Given the description of an element on the screen output the (x, y) to click on. 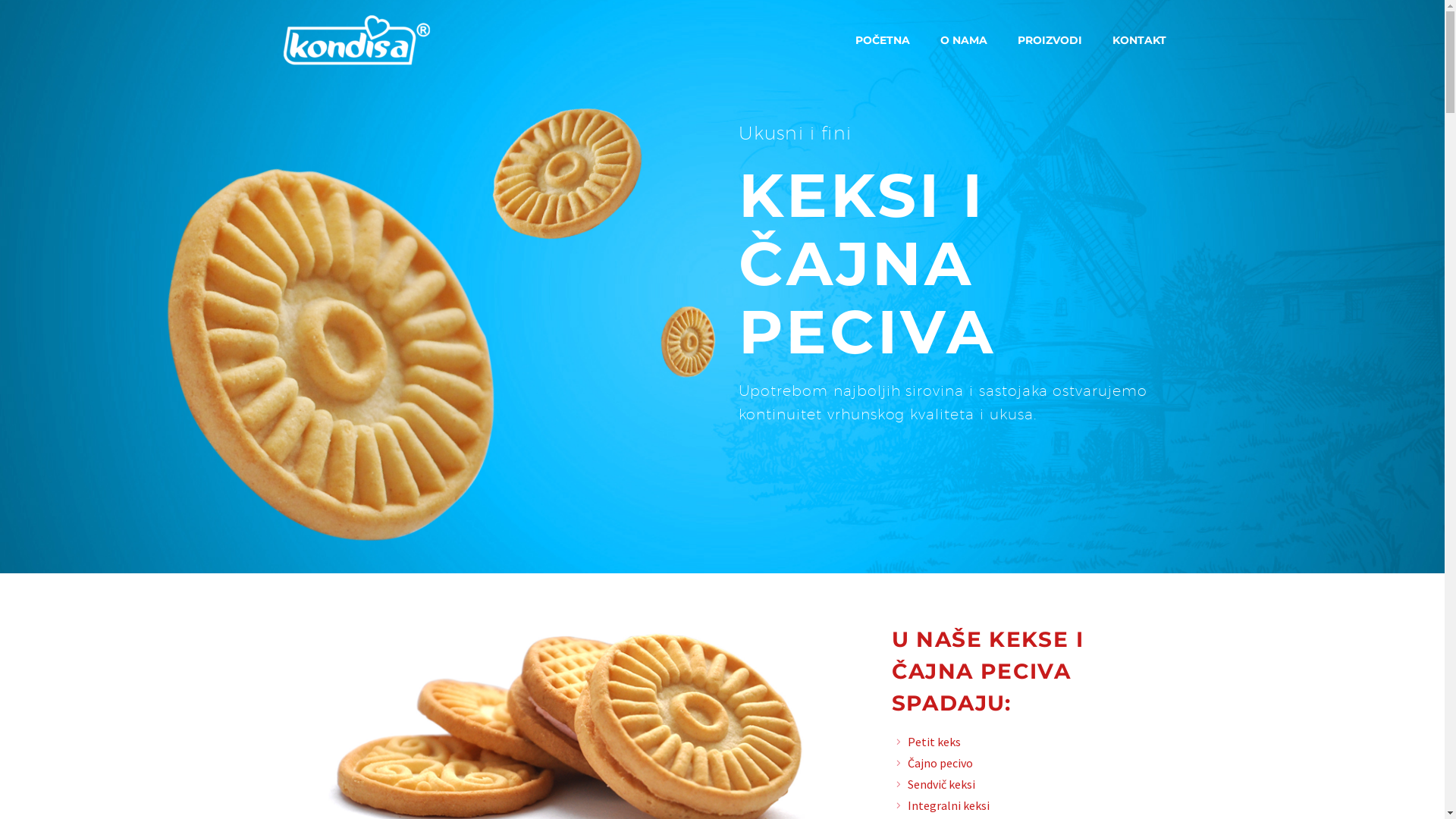
Petit keks Element type: text (933, 741)
O NAMA Element type: text (963, 40)
KONTAKT Element type: text (1138, 40)
Integralni keksi Element type: text (947, 804)
PROIZVODI Element type: text (1049, 40)
